Given the description of an element on the screen output the (x, y) to click on. 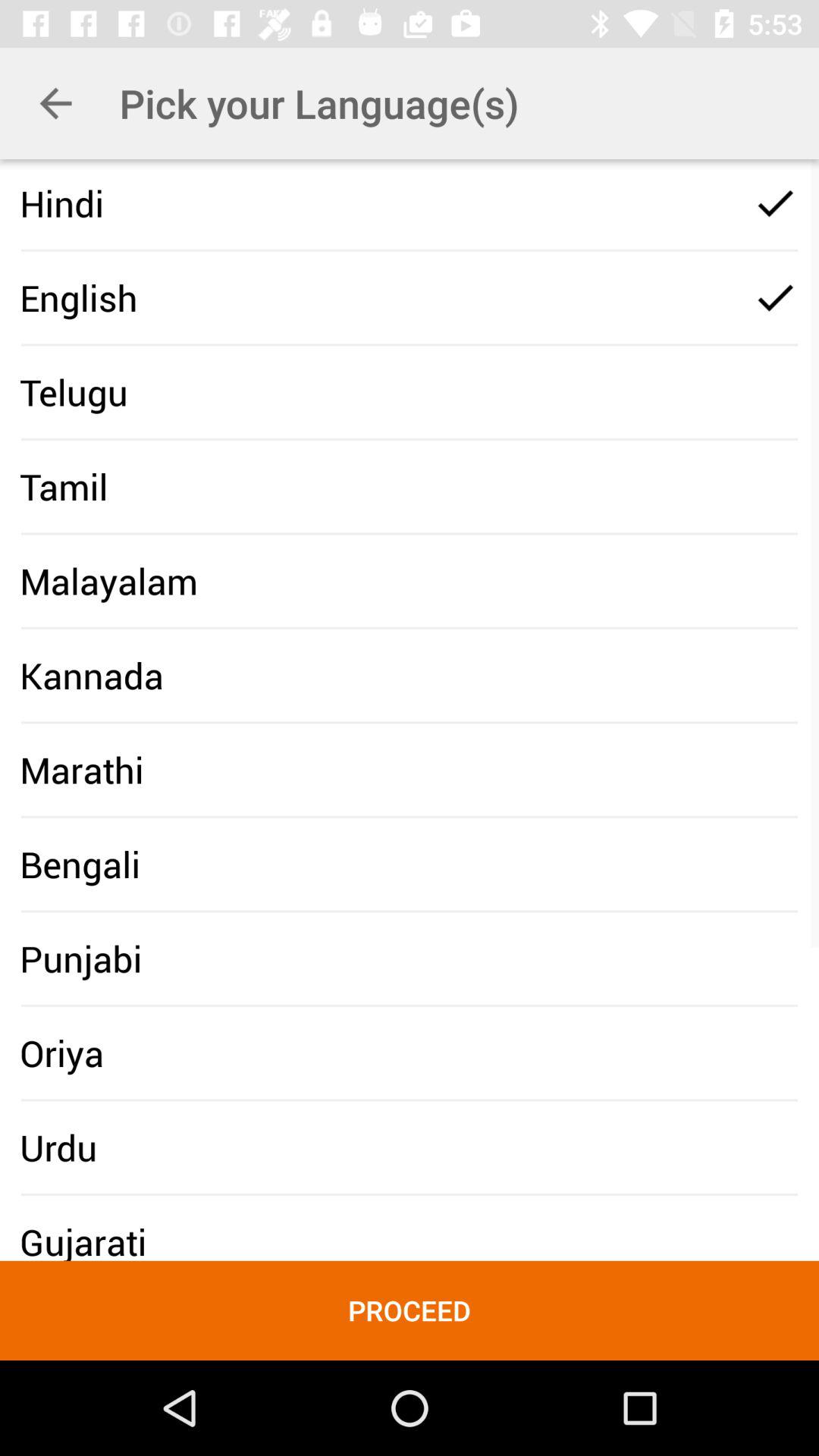
turn on icon below the oriya icon (58, 1147)
